Given the description of an element on the screen output the (x, y) to click on. 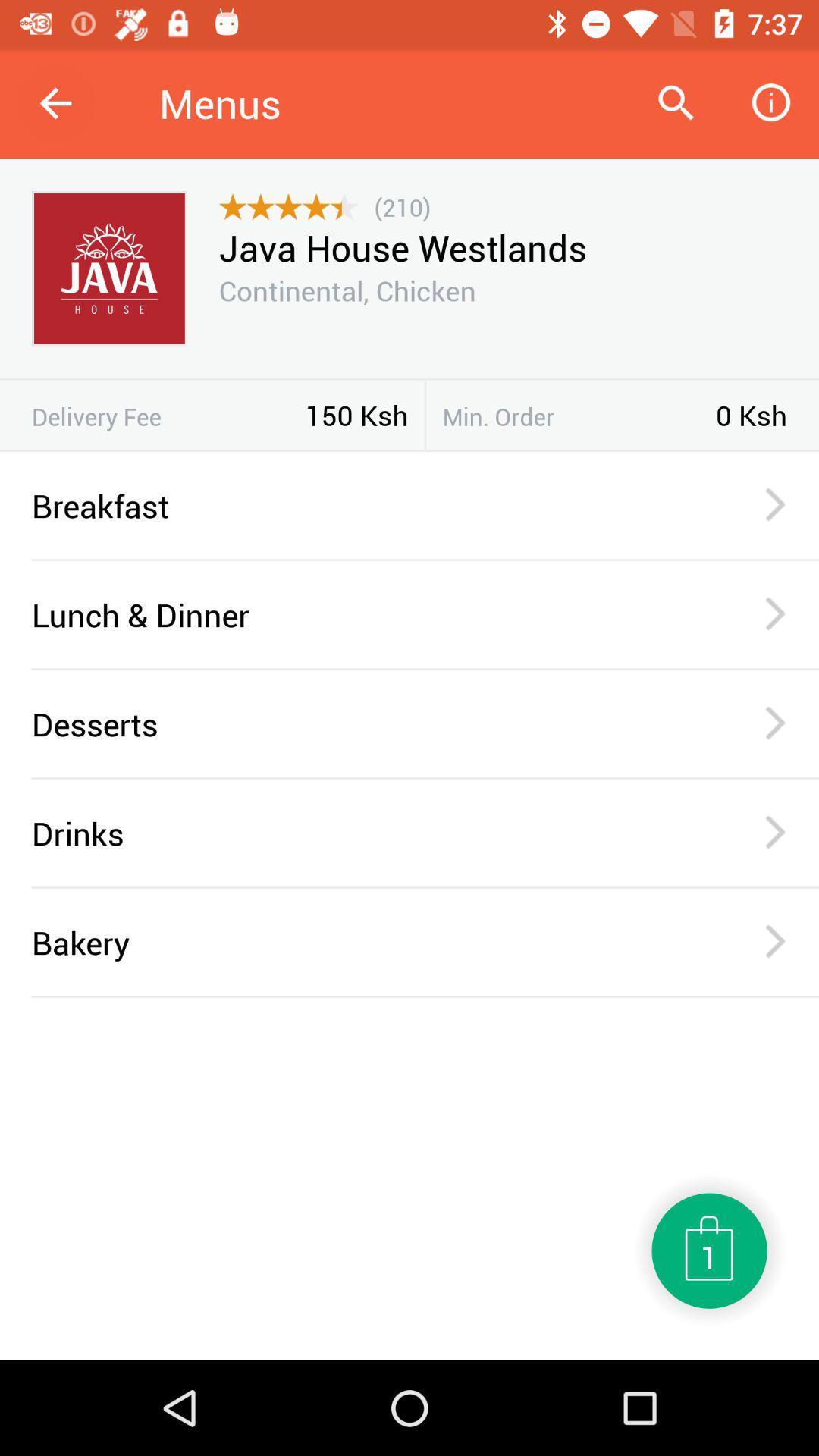
jump until 150 ksh icon (356, 414)
